Given the description of an element on the screen output the (x, y) to click on. 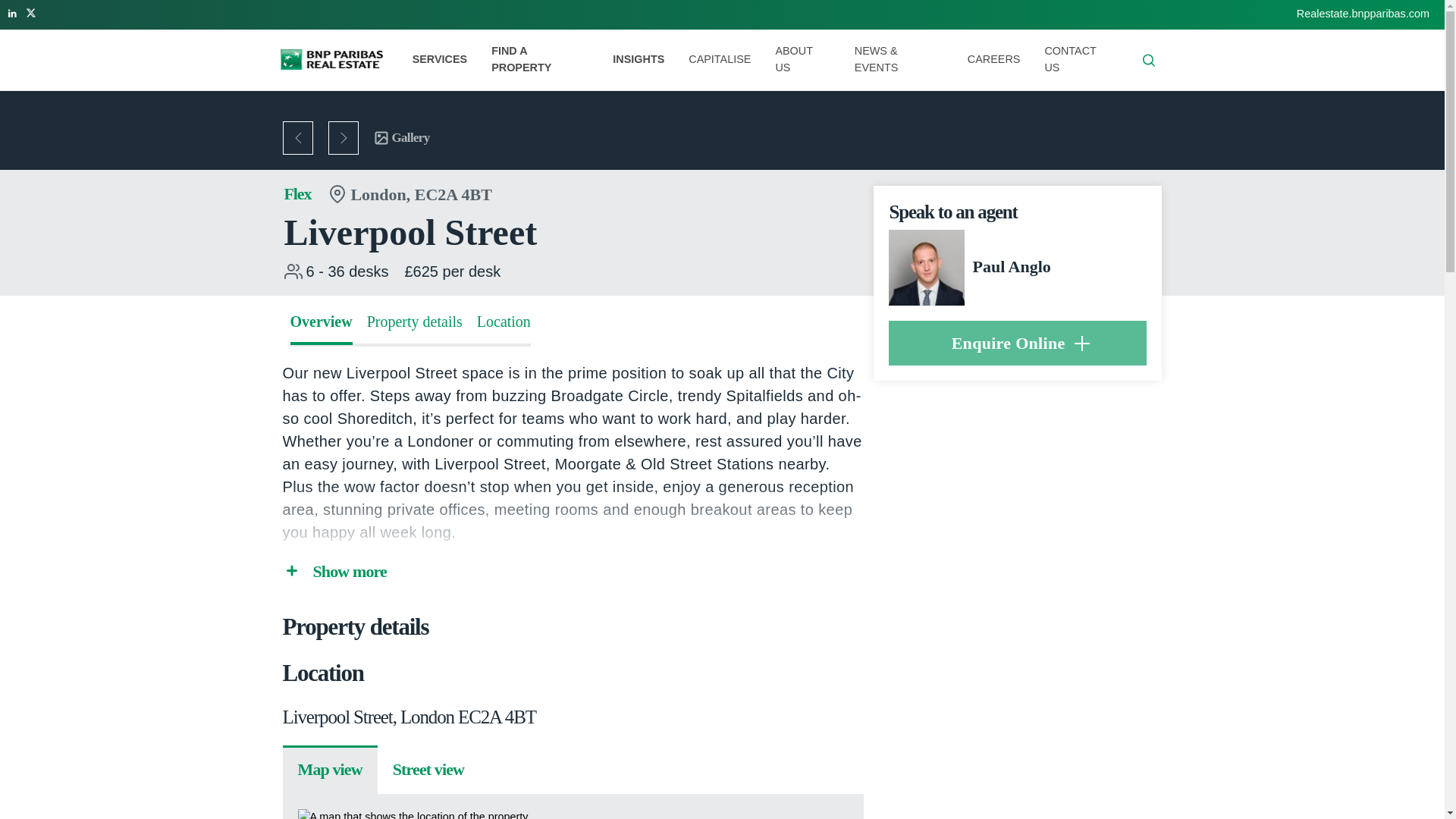
LinkedIn (12, 11)
Twitter (31, 11)
Realestate.bnpparibas.com (1363, 13)
